Given the description of an element on the screen output the (x, y) to click on. 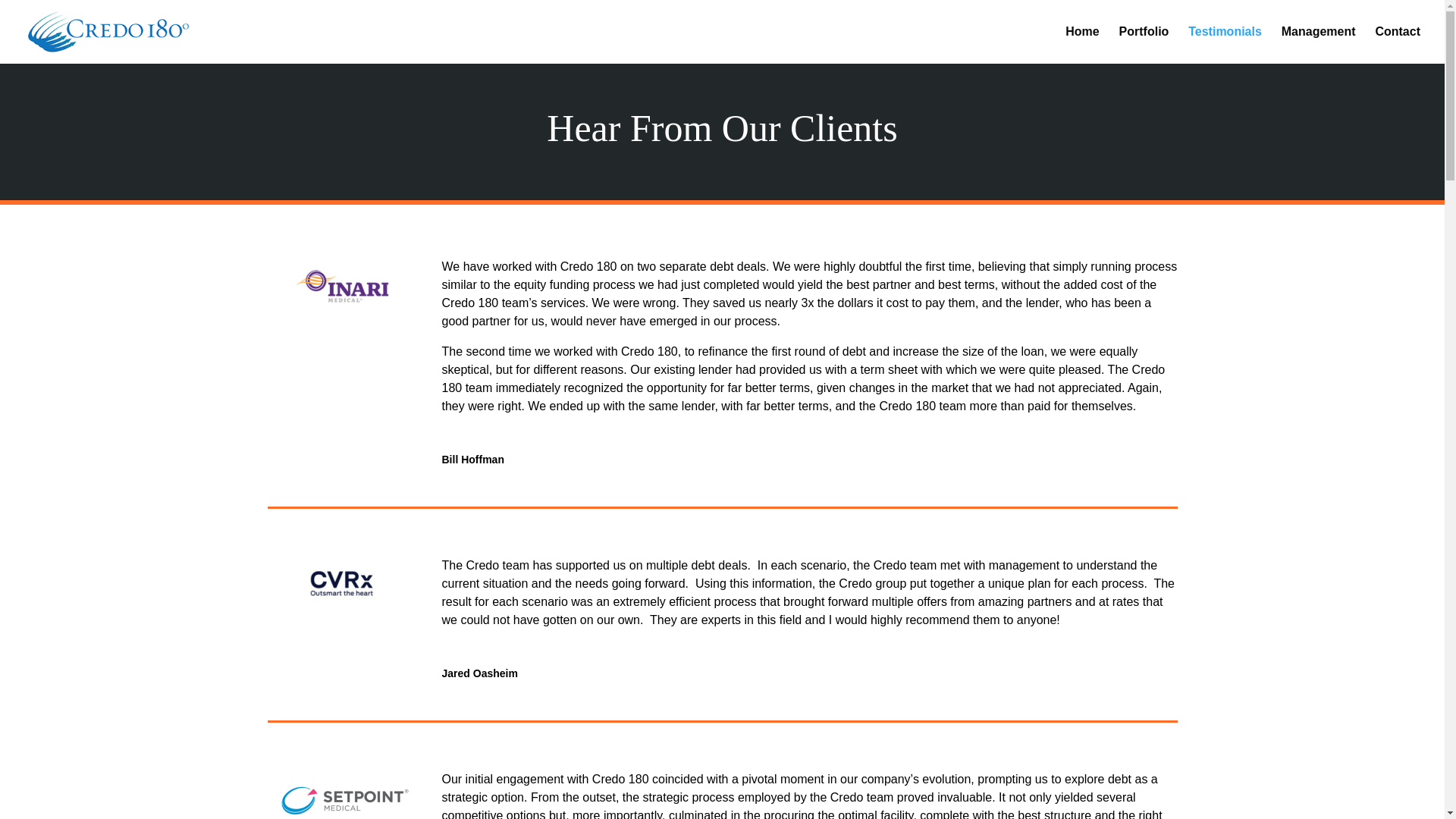
Contact (1397, 44)
Testimonials (1225, 44)
Home (1082, 44)
Portfolio (1144, 44)
Management (1318, 44)
